Given the description of an element on the screen output the (x, y) to click on. 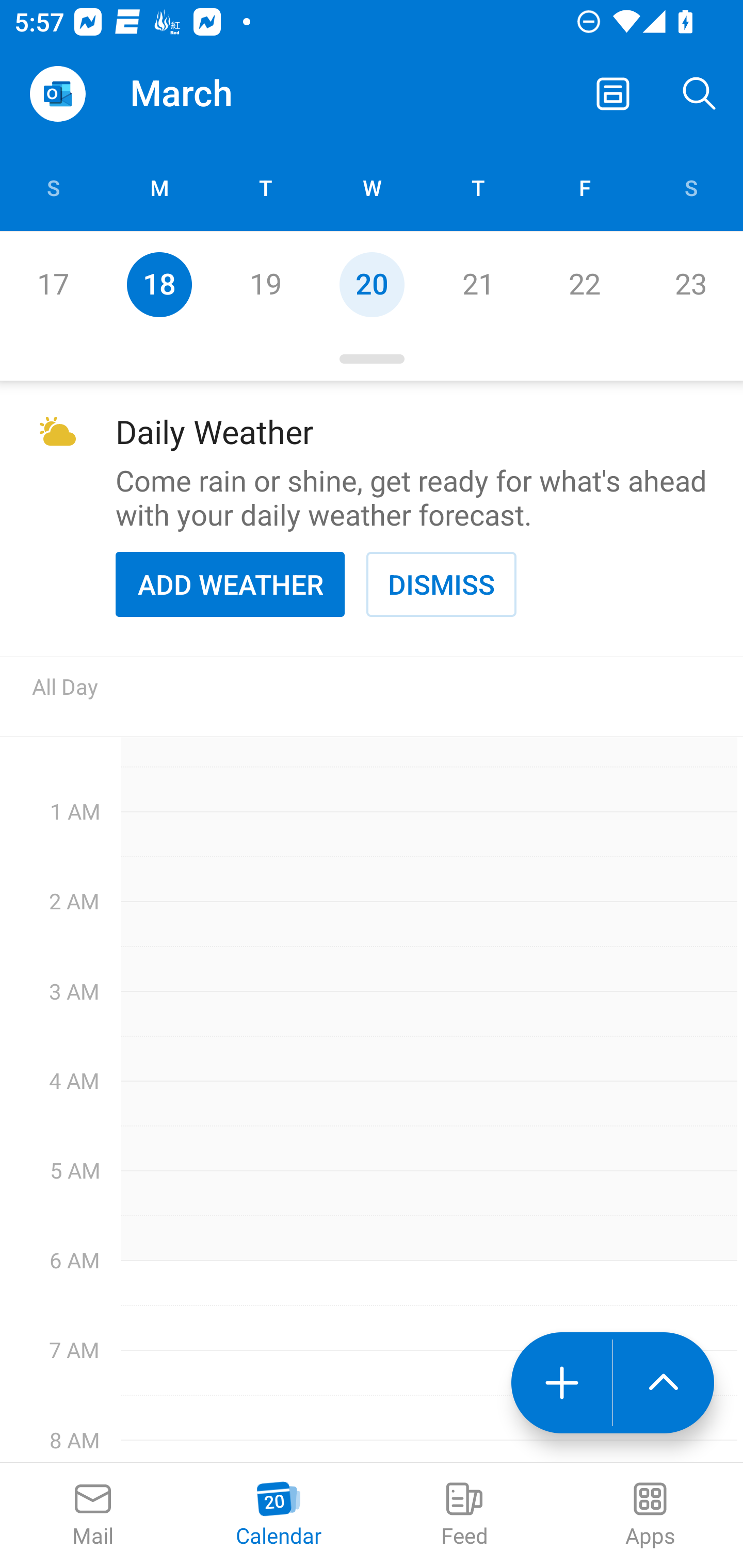
March March 2024, day picker (209, 93)
Switch away from Day view (612, 93)
Search, ,  (699, 93)
Open Navigation Drawer (57, 94)
17 Sunday, March 17 (53, 284)
18 Monday, March 18, Selected (159, 284)
19 Tuesday, March 19 (265, 284)
20 Wednesday, March 20, today (371, 284)
21 Thursday, March 21 (477, 284)
22 Friday, March 22 (584, 284)
23 Saturday, March 23 (690, 284)
Day picker (371, 359)
ADD WEATHER (230, 583)
DISMISS (440, 583)
New event (561, 1382)
launch the extended action menu (663, 1382)
Mail (92, 1515)
Feed (464, 1515)
Apps (650, 1515)
